Given the description of an element on the screen output the (x, y) to click on. 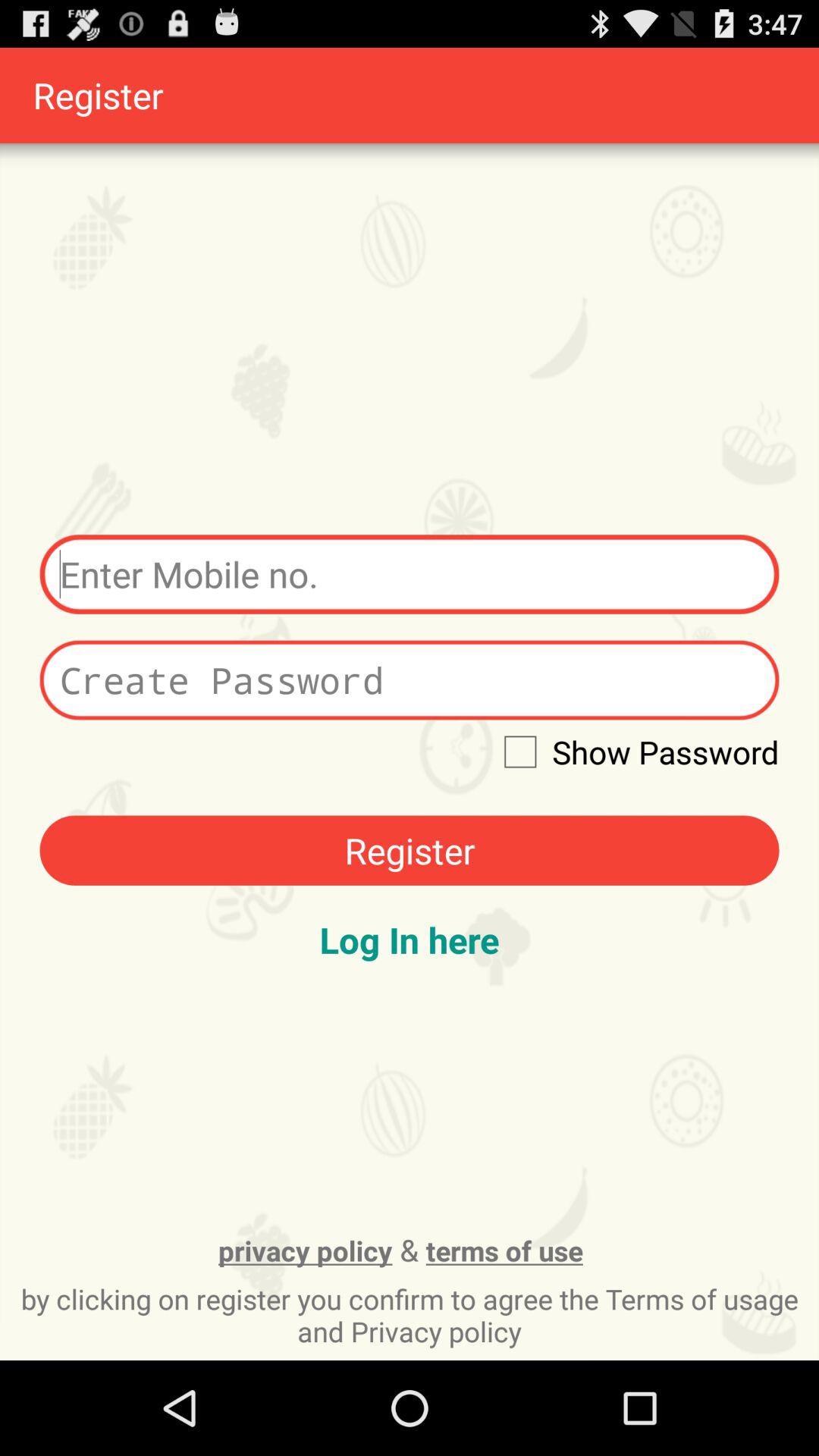
enter box (409, 574)
